Given the description of an element on the screen output the (x, y) to click on. 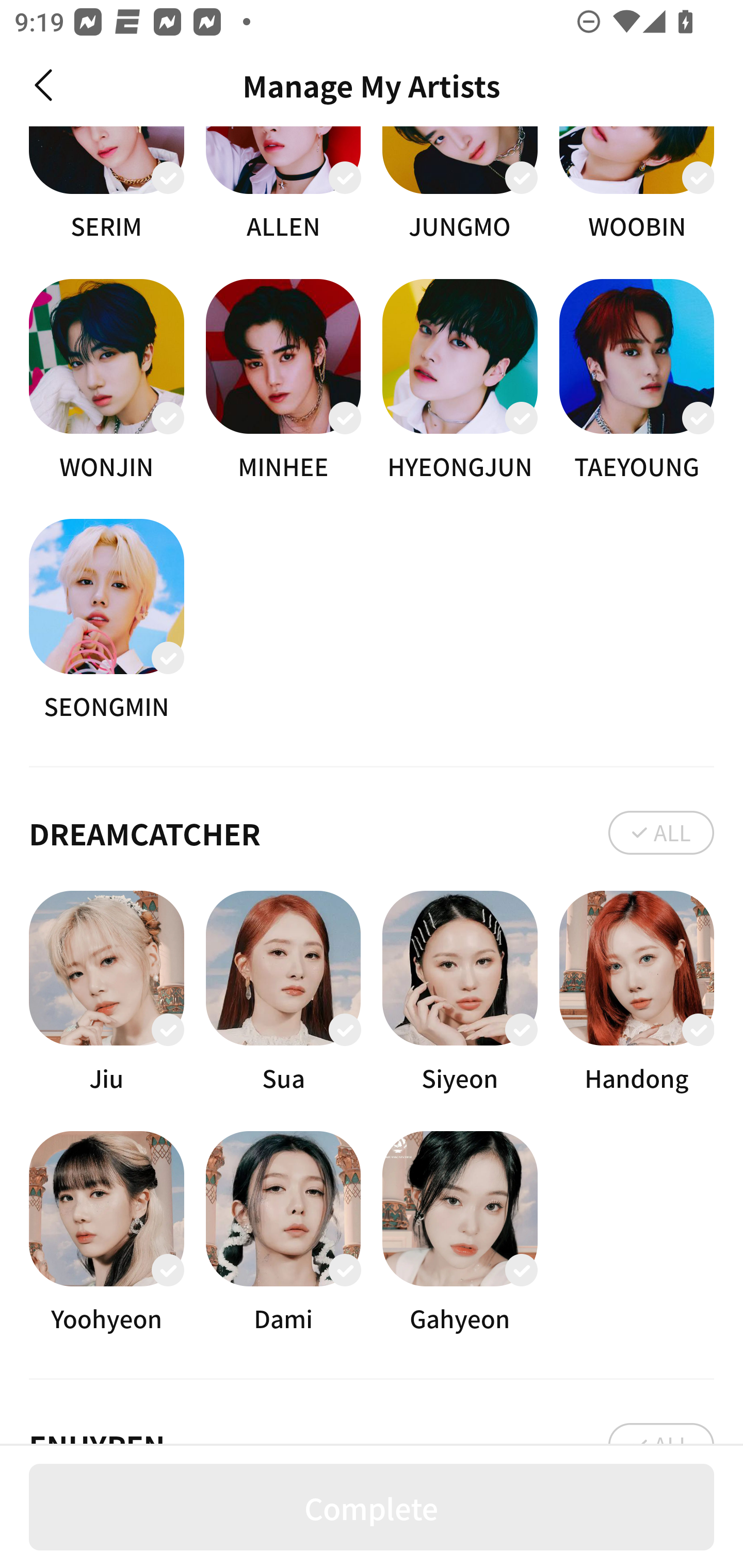
SERIM (106, 185)
ALLEN (282, 185)
JUNGMO (459, 185)
WOOBIN (636, 185)
WONJIN (106, 380)
MINHEE (282, 380)
HYEONGJUN (459, 380)
TAEYOUNG (636, 380)
SEONGMIN (106, 620)
ALL (661, 832)
Jiu (106, 992)
Sua (282, 992)
Siyeon (459, 992)
Handong (636, 992)
Yoohyeon (106, 1232)
Dami (282, 1232)
Gahyeon (459, 1232)
Complete (371, 1507)
